Given the description of an element on the screen output the (x, y) to click on. 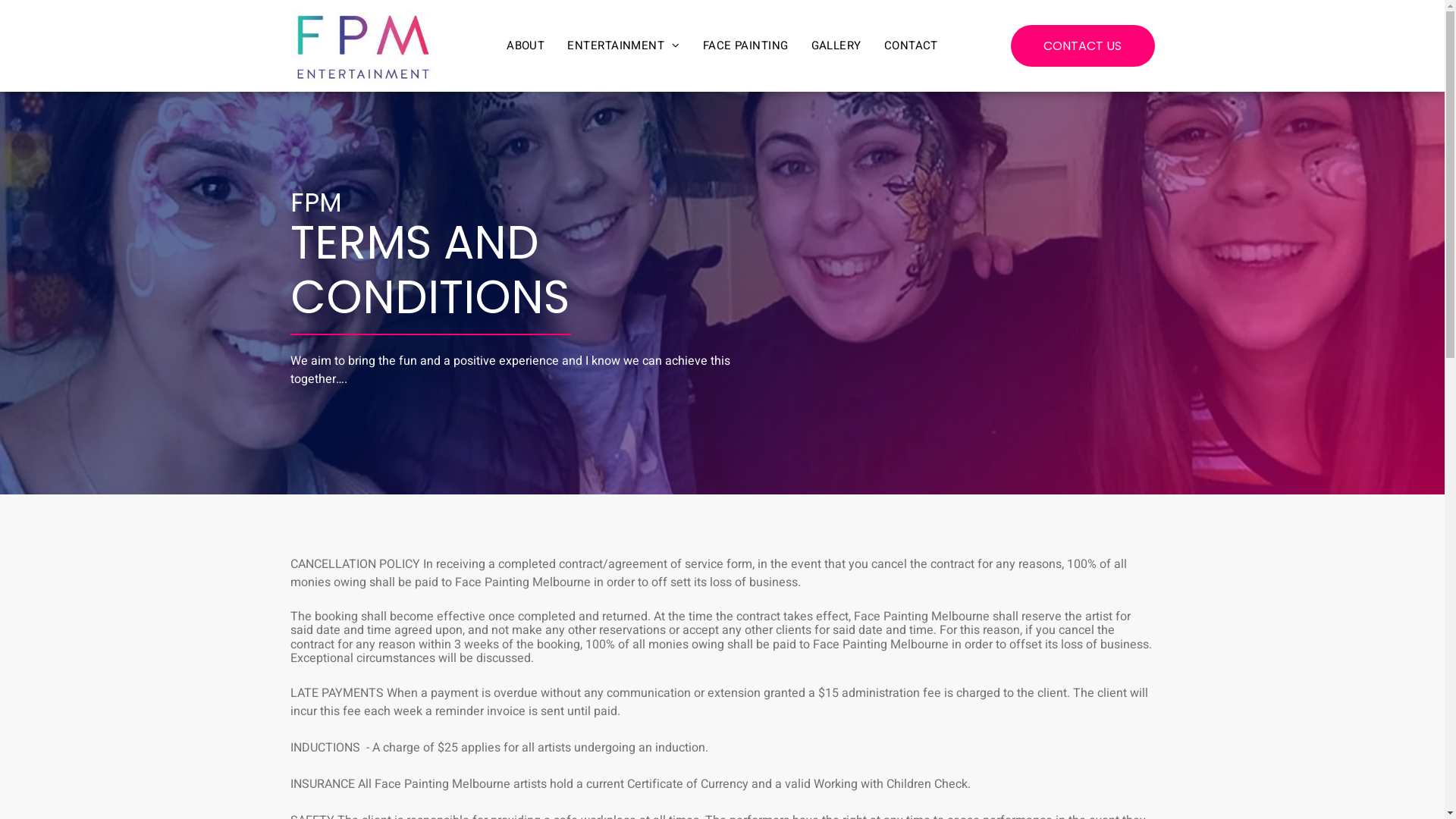
FACE PAINTING Element type: text (745, 45)
CONTACT US Element type: text (1082, 45)
ABOUT Element type: text (525, 45)
CONTACT Element type: text (910, 45)
GALLERY Element type: text (836, 45)
ENTERTAINMENT Element type: text (622, 45)
